Given the description of an element on the screen output the (x, y) to click on. 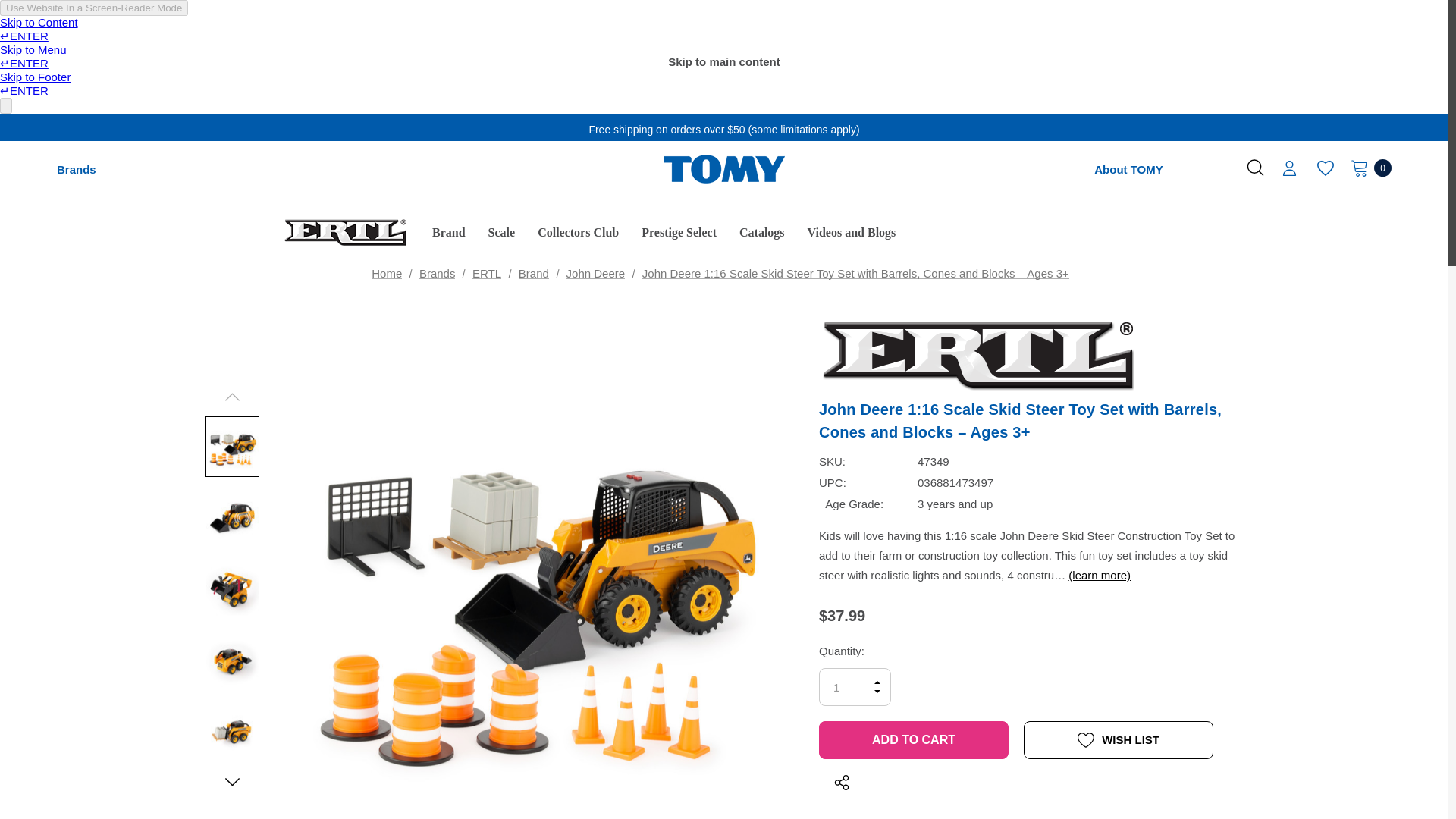
Brands (76, 169)
TOMY (723, 169)
1 (854, 686)
Skip to main content (724, 62)
Wish Lists Wish Lists (1325, 167)
Add to Cart (913, 740)
